Given the description of an element on the screen output the (x, y) to click on. 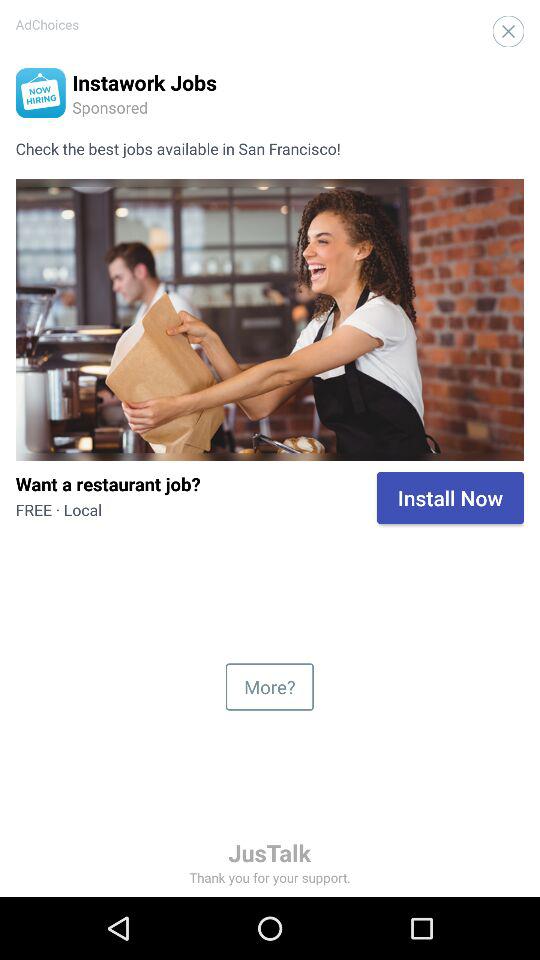
click on the icon which is left to the instawork jobs (40, 93)
